Given the description of an element on the screen output the (x, y) to click on. 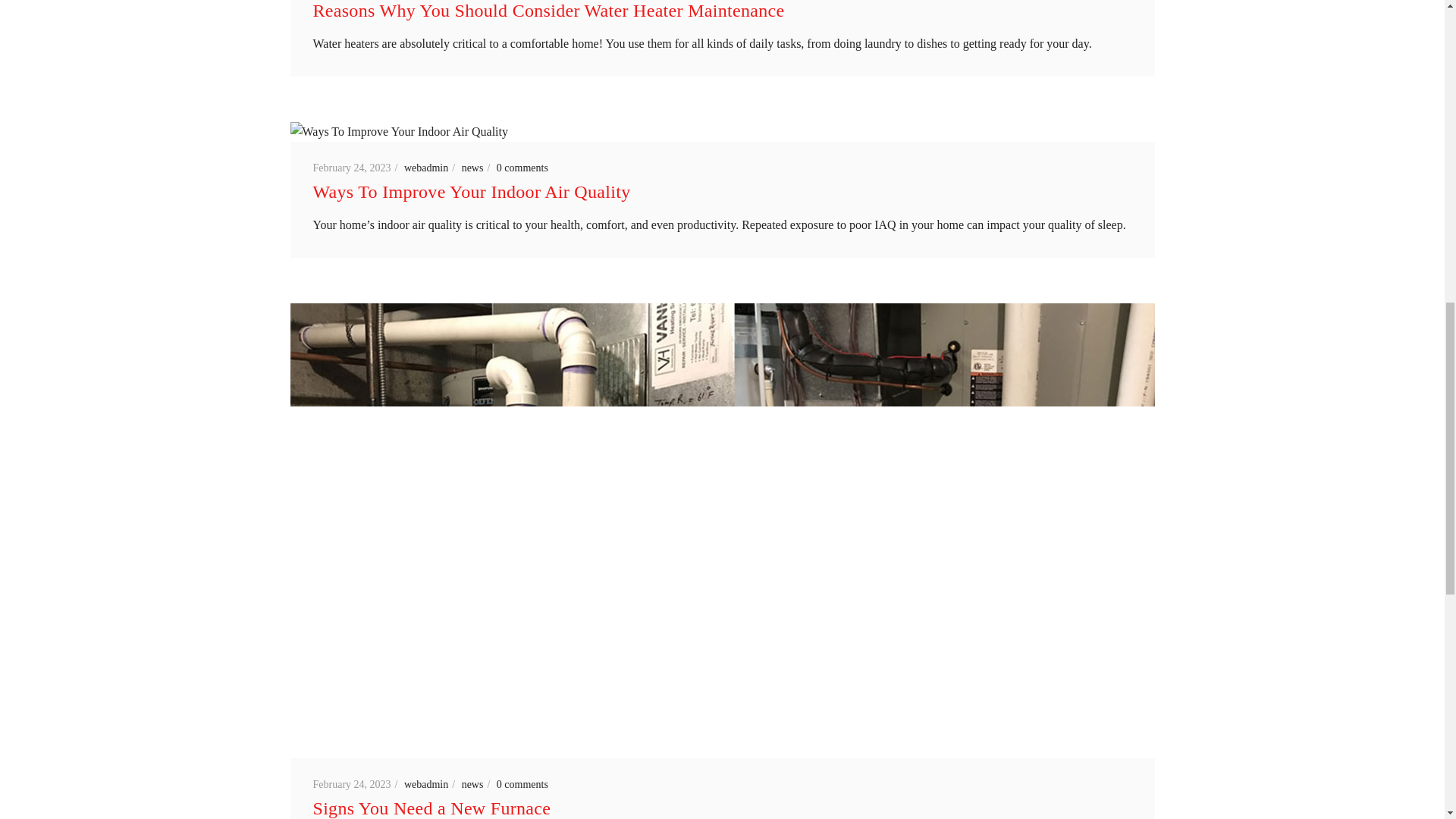
news (478, 167)
webadmin (431, 167)
Ways To Improve Your Indoor Air Quality (471, 191)
Reasons Why You Should Consider Water Heater Maintenance (548, 10)
0 comments (522, 167)
